Given the description of an element on the screen output the (x, y) to click on. 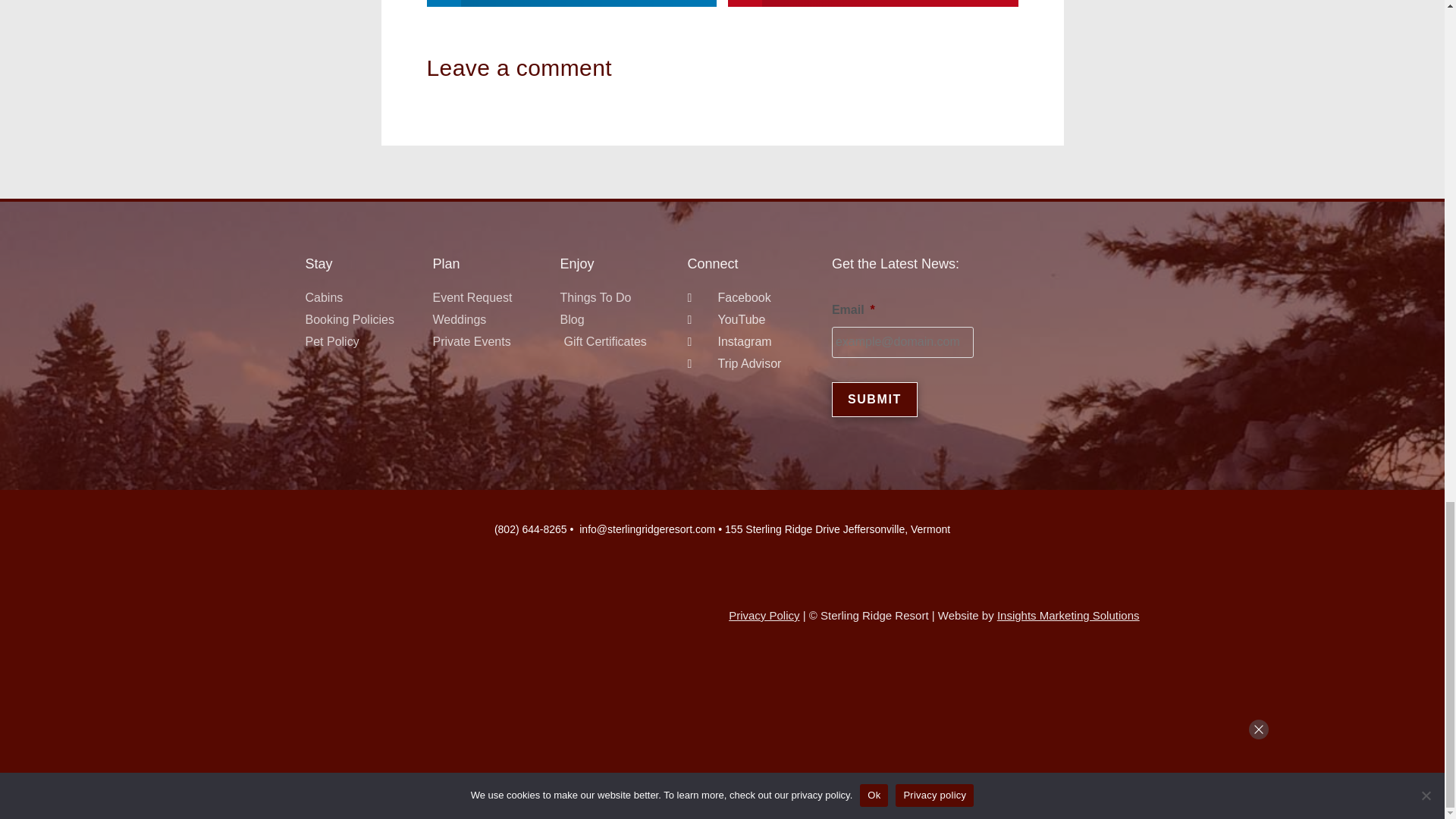
Submit (874, 399)
